Given the description of an element on the screen output the (x, y) to click on. 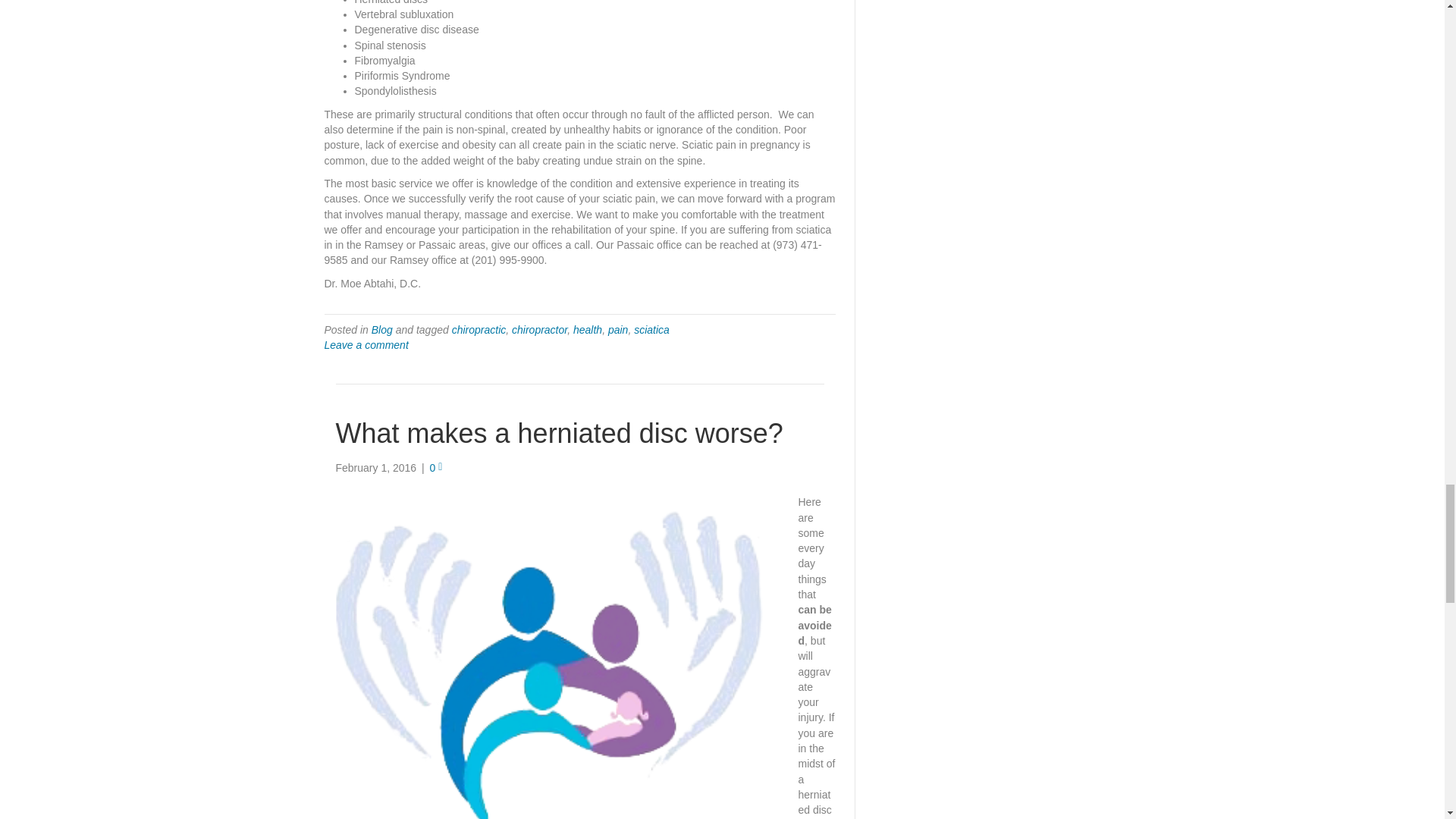
What makes a herniated disc worse? (558, 432)
What makes a herniated disc worse? (551, 664)
